Given the description of an element on the screen output the (x, y) to click on. 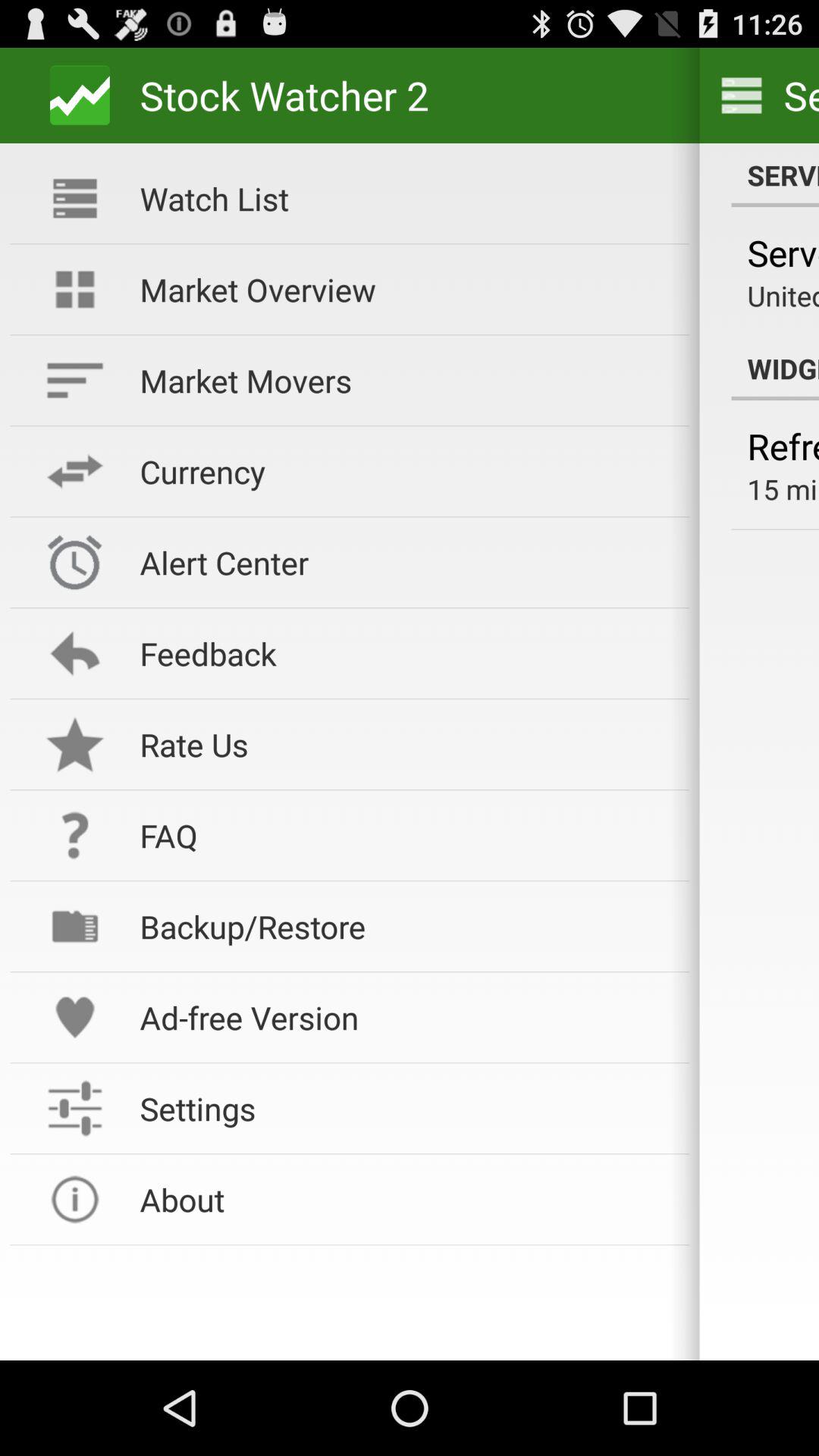
tap app to the left of widgets app (404, 289)
